Given the description of an element on the screen output the (x, y) to click on. 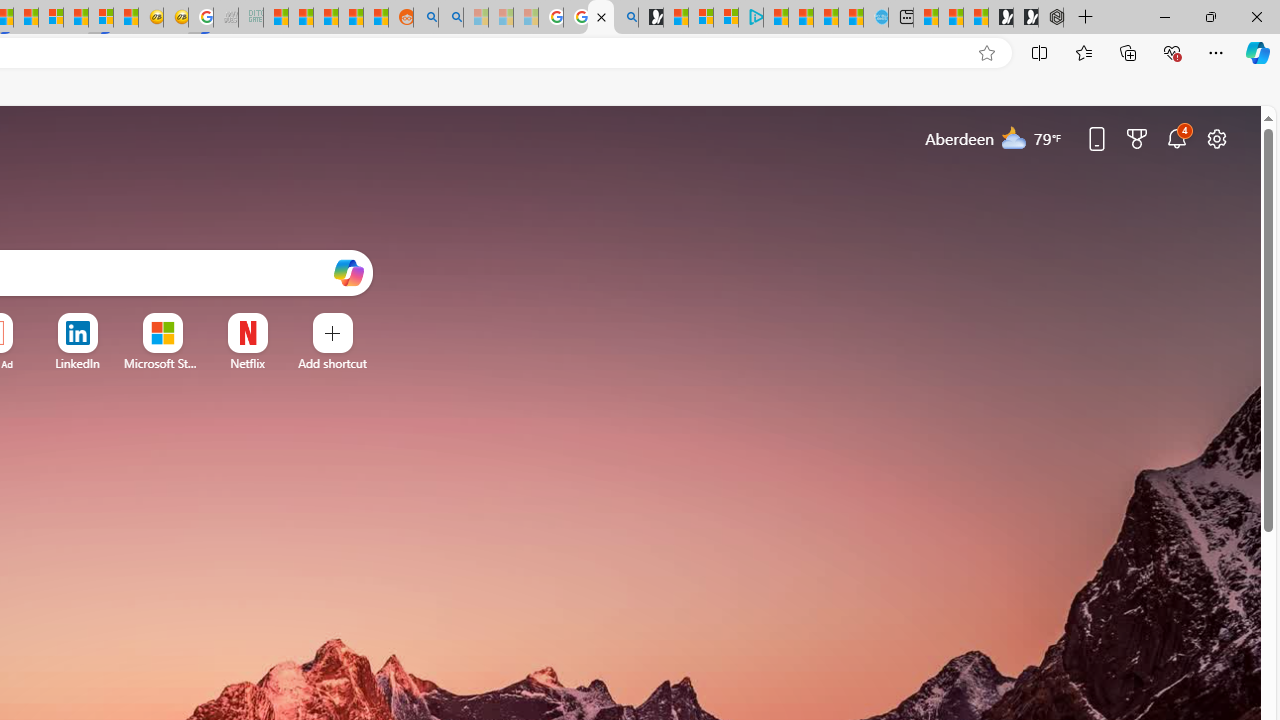
LinkedIn (77, 363)
